Given the description of an element on the screen output the (x, y) to click on. 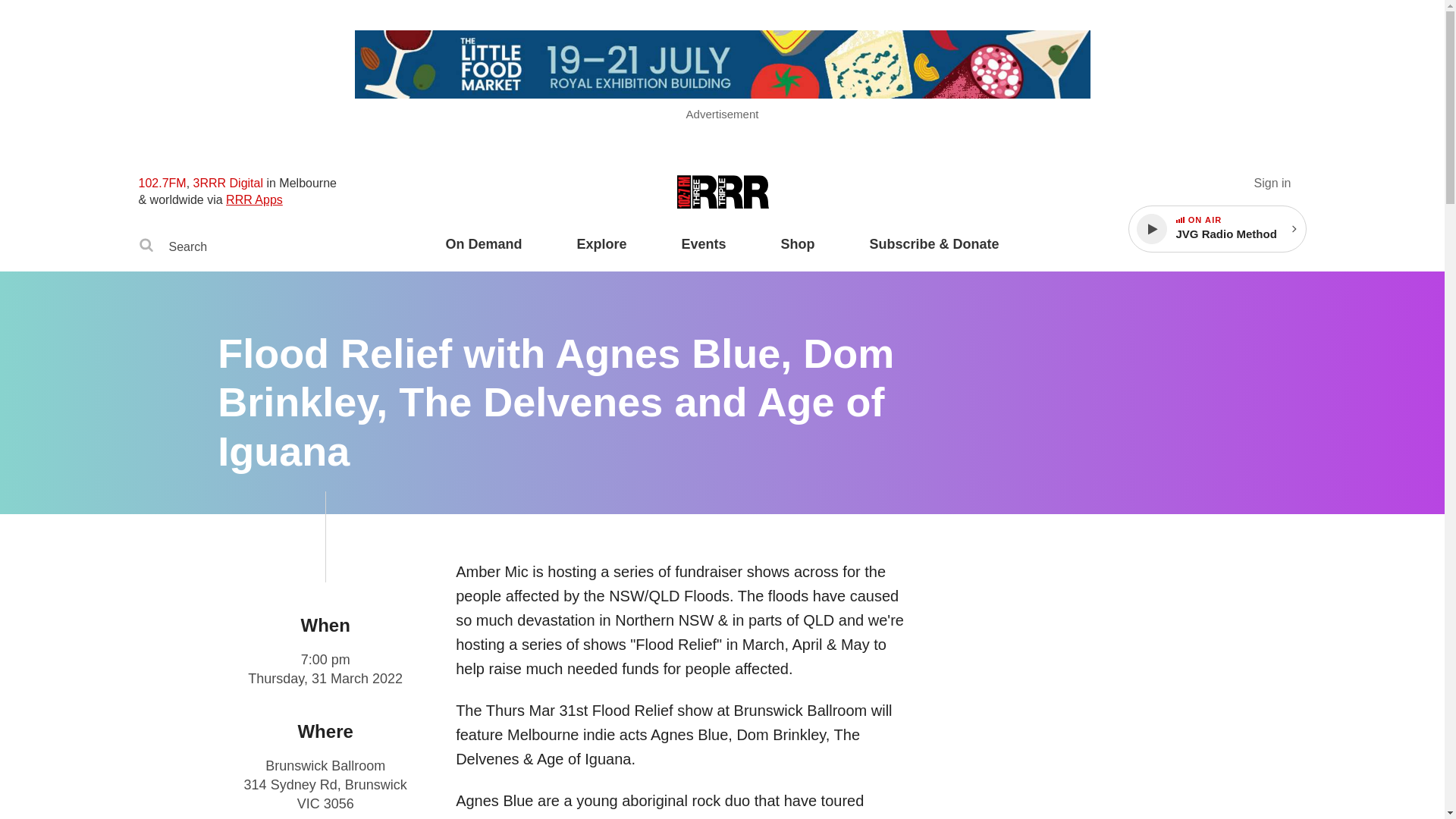
Explore (600, 253)
Events (702, 253)
Sign in (1272, 182)
ANIMATED AUDIO BARS (1179, 219)
Shop (798, 253)
Triple R logo (722, 192)
On Demand (482, 253)
Search (1234, 228)
RRR Apps (145, 247)
